Given the description of an element on the screen output the (x, y) to click on. 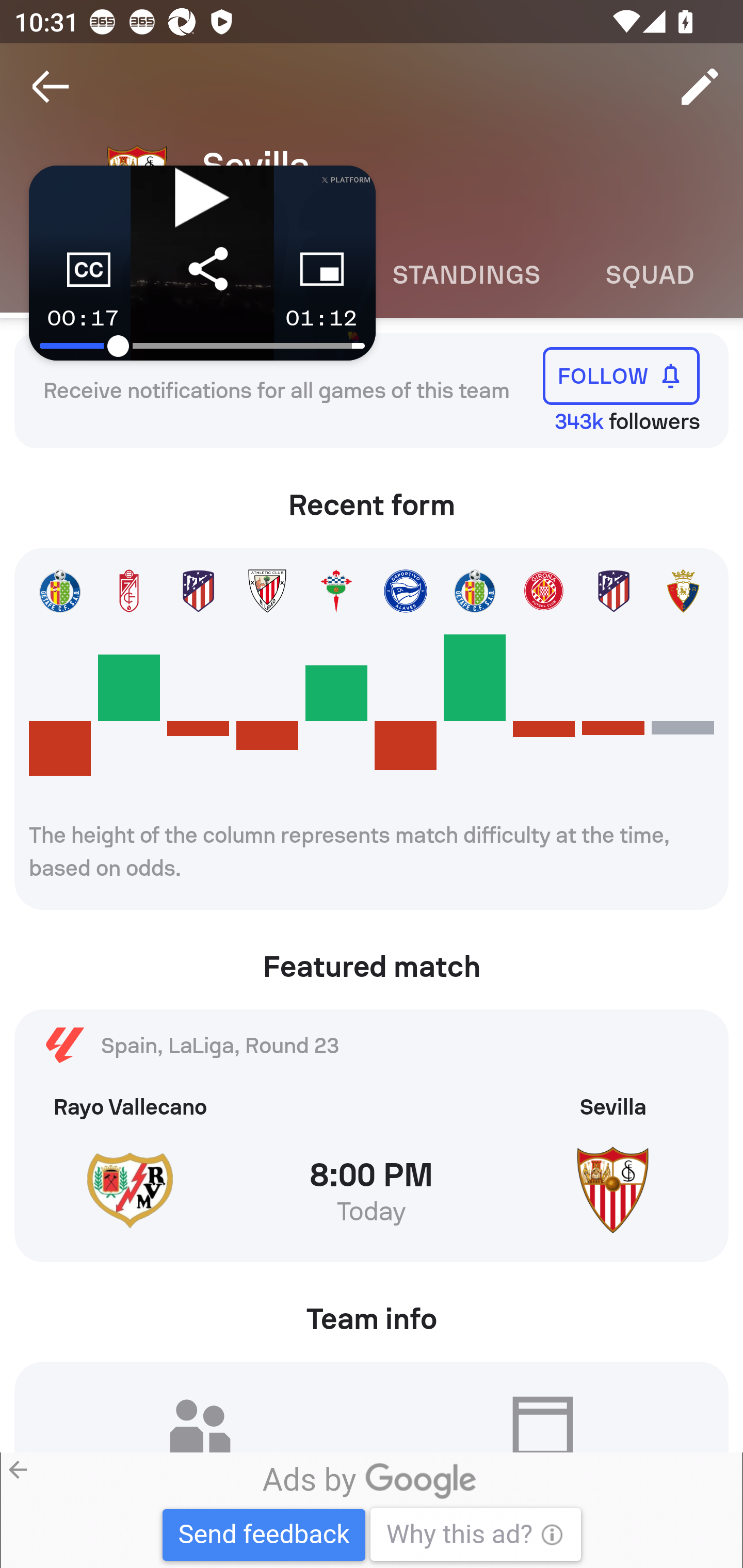
Navigate up (50, 86)
Edit (699, 86)
Standings STANDINGS (465, 275)
Squad SQUAD (650, 275)
FOLLOW (621, 375)
